Given the description of an element on the screen output the (x, y) to click on. 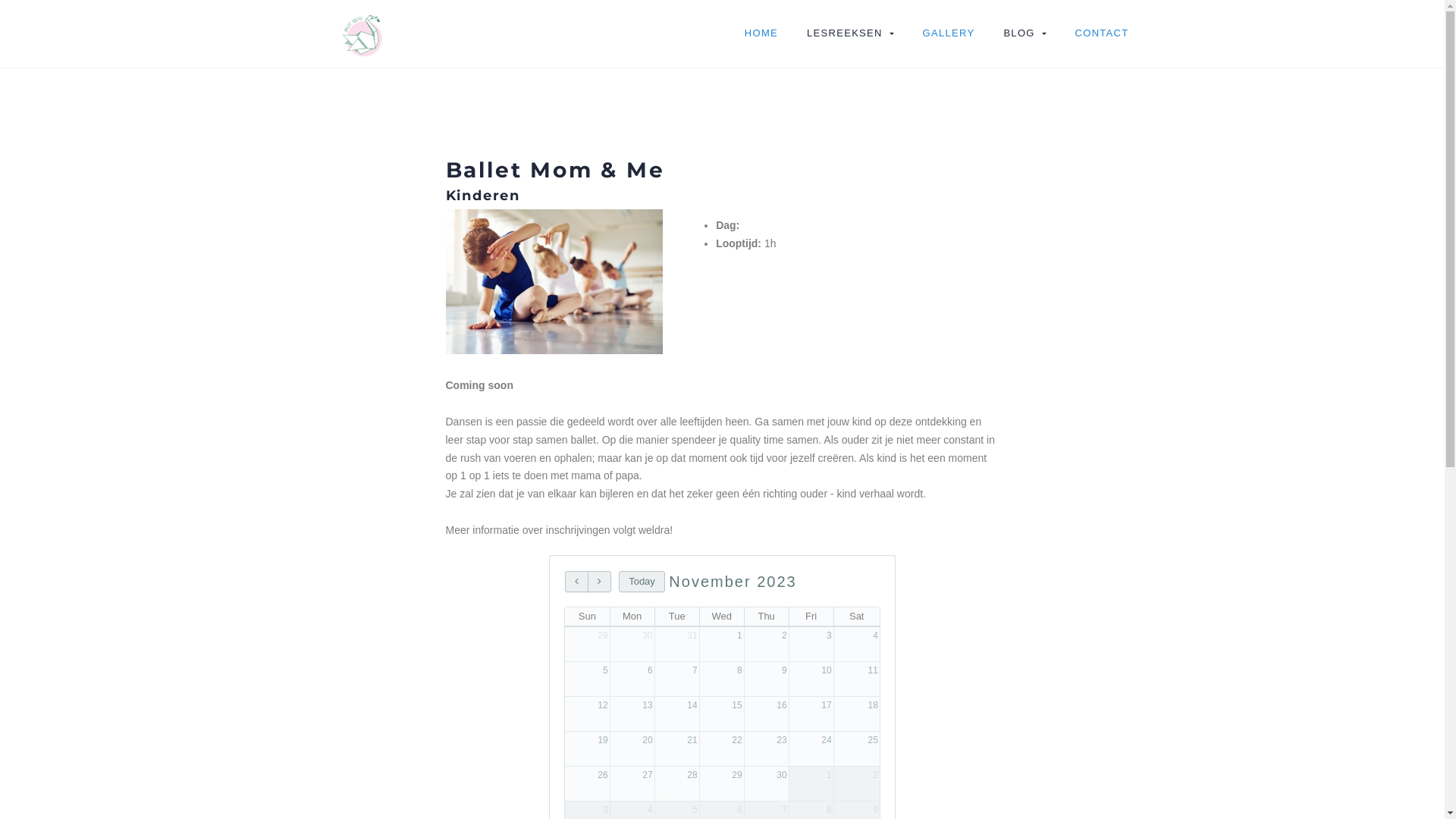
LESREEKSEN Element type: text (850, 33)
CONTACT Element type: text (1101, 33)
HOME Element type: text (761, 33)
BLOG Element type: text (1024, 33)
GALLERY Element type: text (948, 33)
